Given the description of an element on the screen output the (x, y) to click on. 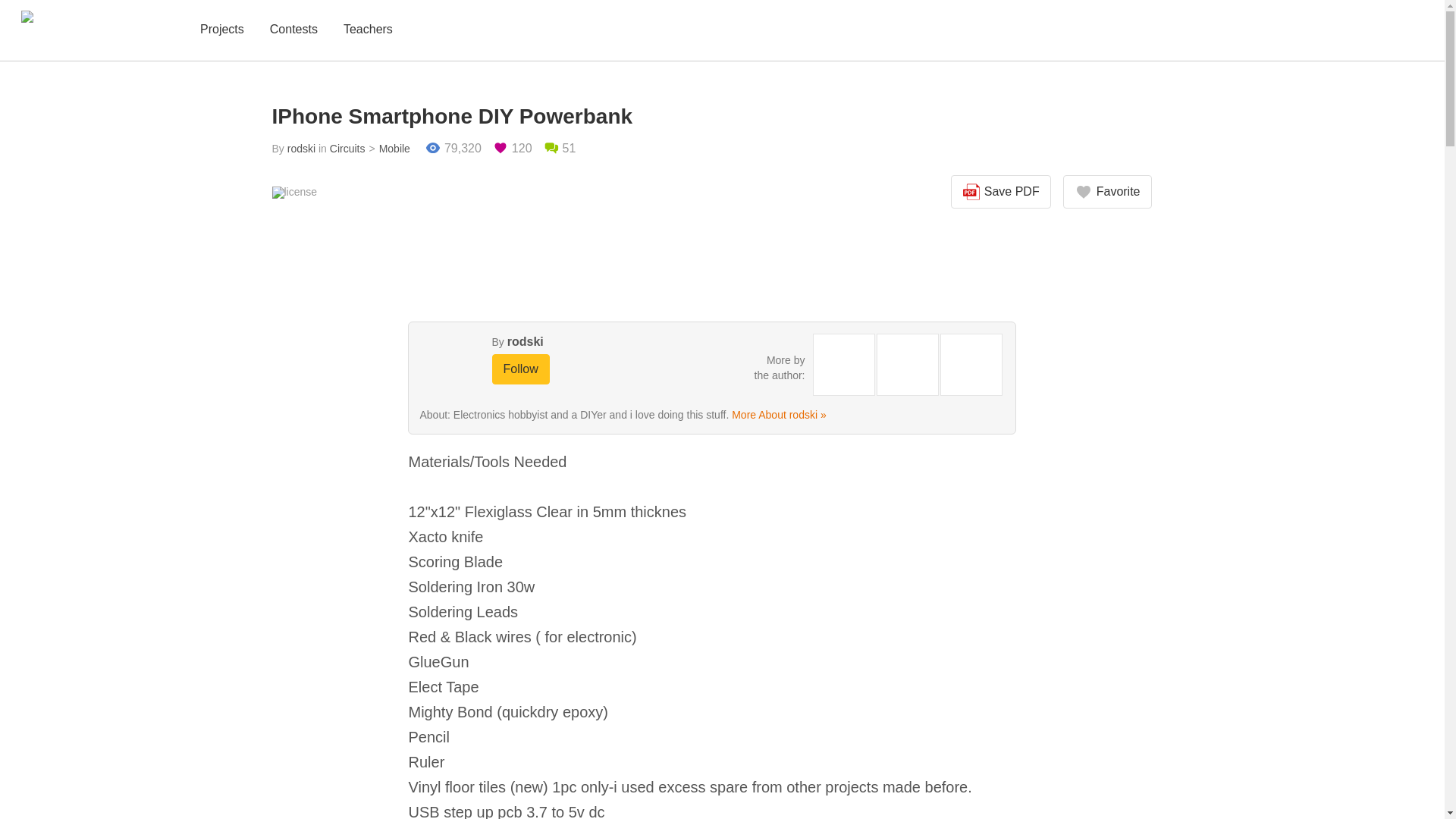
rodski (300, 148)
Follow (520, 368)
Save PDF (1000, 191)
Circuits (347, 148)
Favorite (1106, 191)
Mobile (387, 148)
Teachers (368, 30)
Contests (293, 30)
51 (559, 148)
rodski (524, 341)
Projects (221, 30)
